Given the description of an element on the screen output the (x, y) to click on. 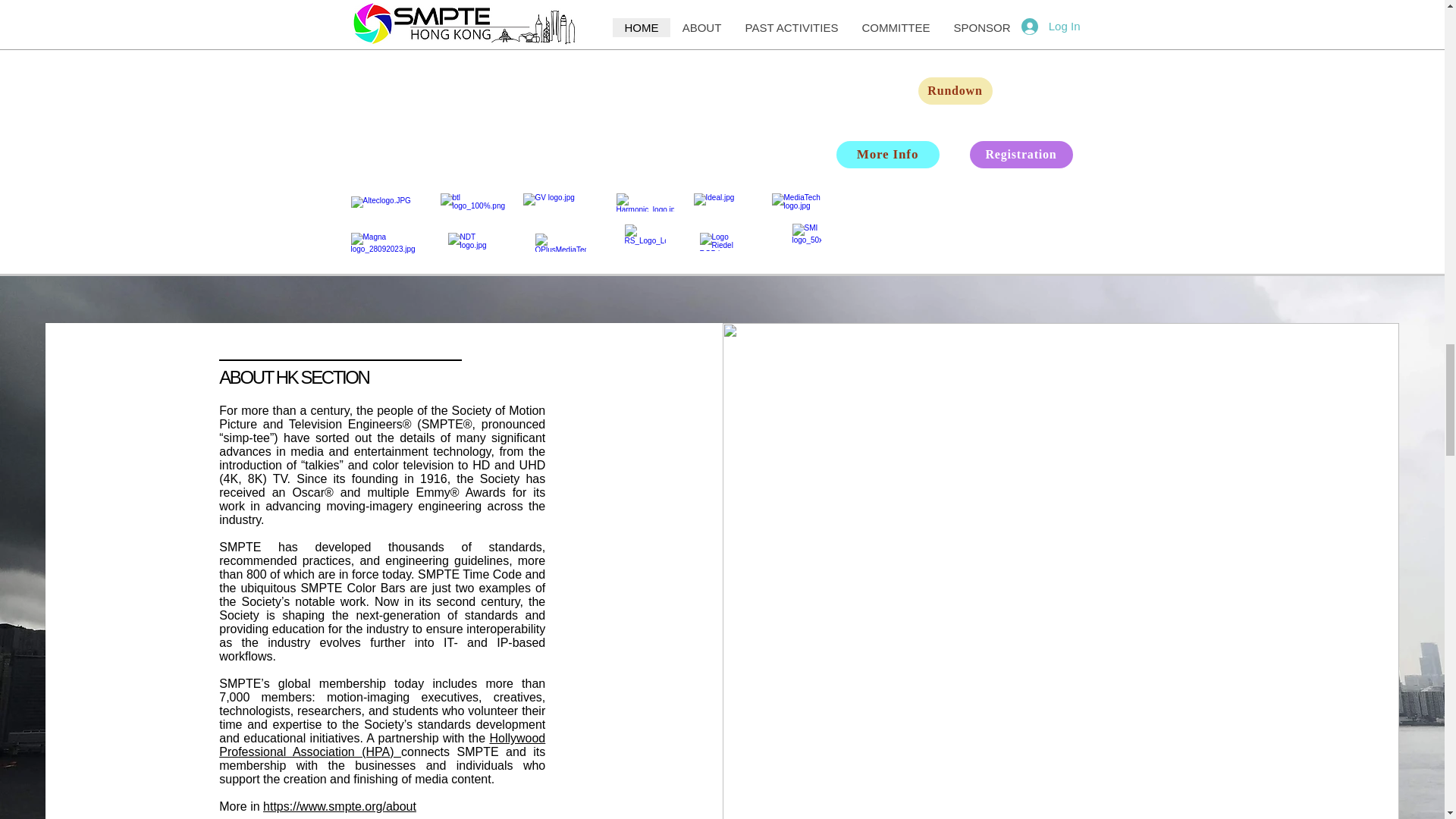
Registration (1020, 154)
More Info (887, 154)
Rundown (954, 90)
